Given the description of an element on the screen output the (x, y) to click on. 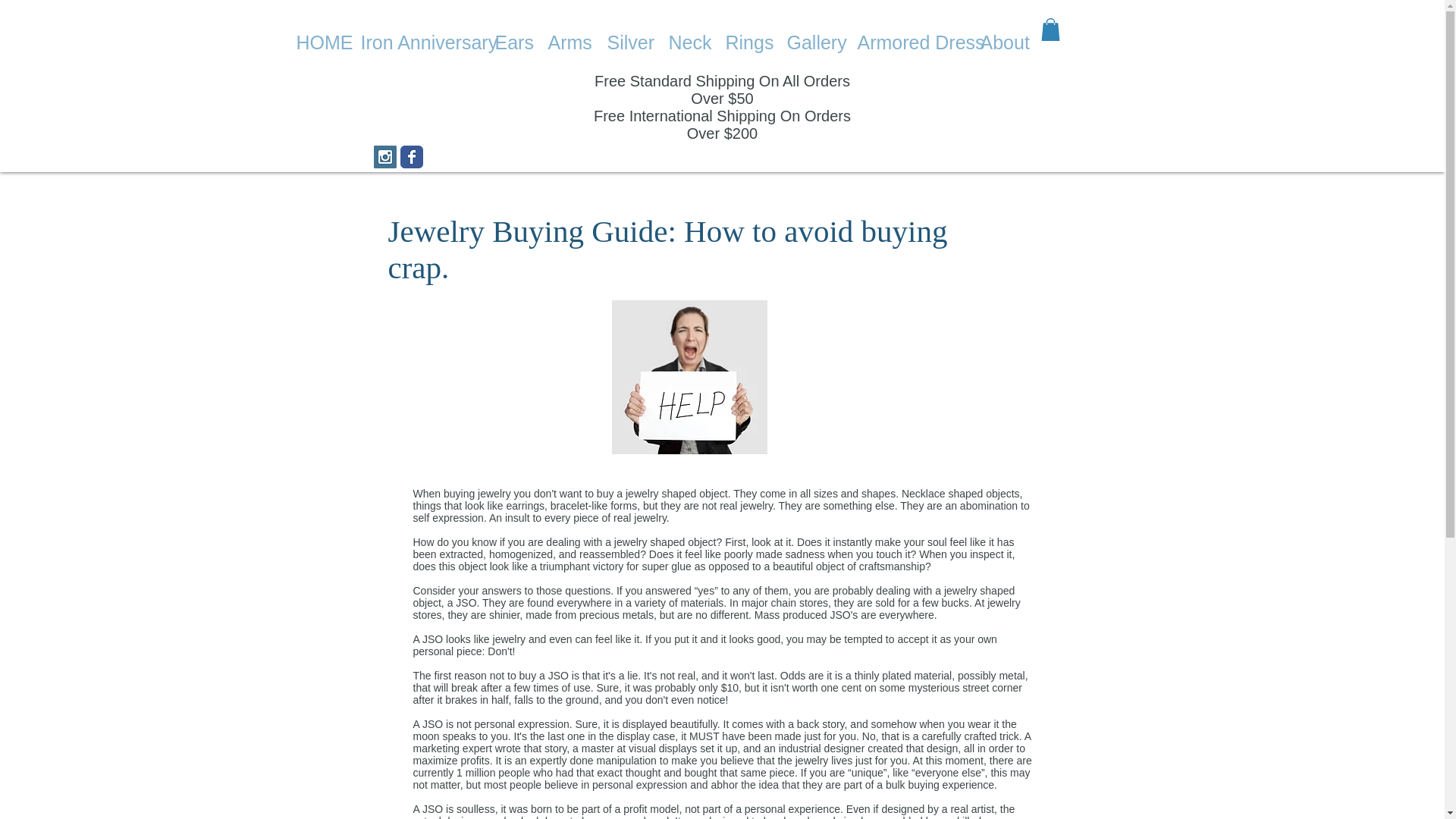
Armored Dress (907, 42)
Gallery (809, 42)
Ears (510, 42)
Rings (745, 42)
HOME (317, 42)
About (1000, 42)
jewelry help (689, 377)
Neck (684, 42)
Arms (566, 42)
Silver (626, 42)
